Given the description of an element on the screen output the (x, y) to click on. 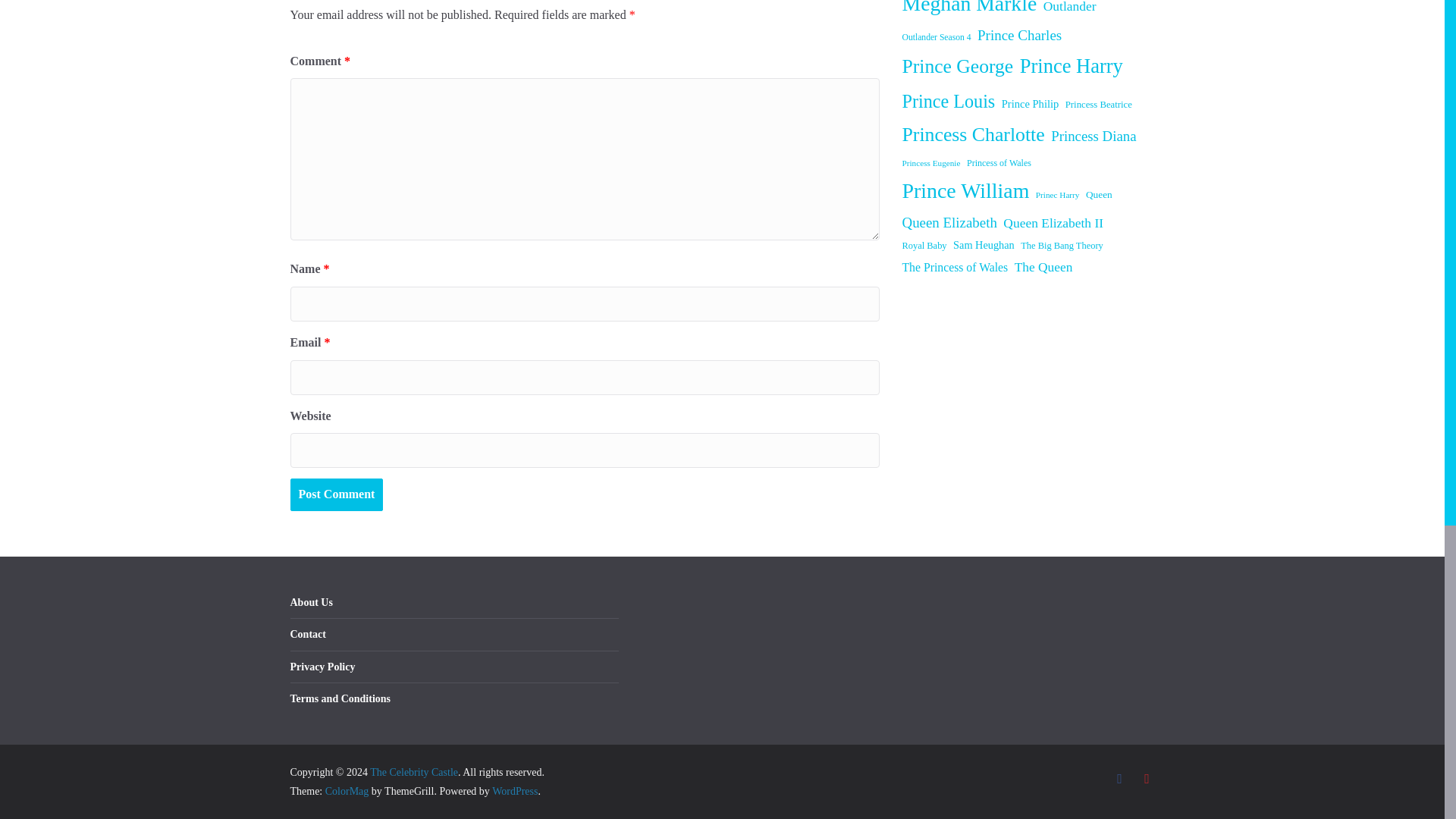
ColorMag (346, 790)
Post Comment (335, 494)
The Celebrity Castle (413, 772)
Post Comment (335, 494)
WordPress (514, 790)
